Given the description of an element on the screen output the (x, y) to click on. 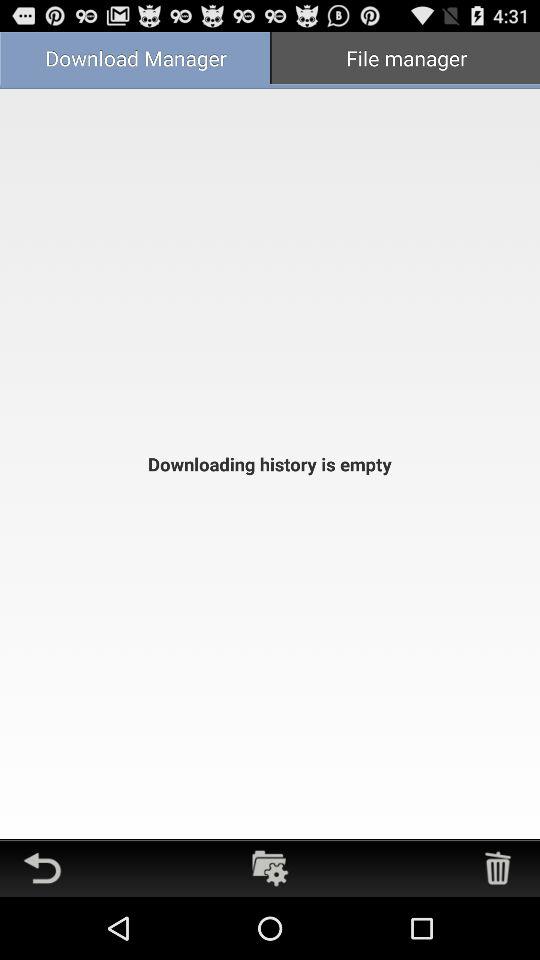
select the icon to the left of file manager icon (135, 60)
